Given the description of an element on the screen output the (x, y) to click on. 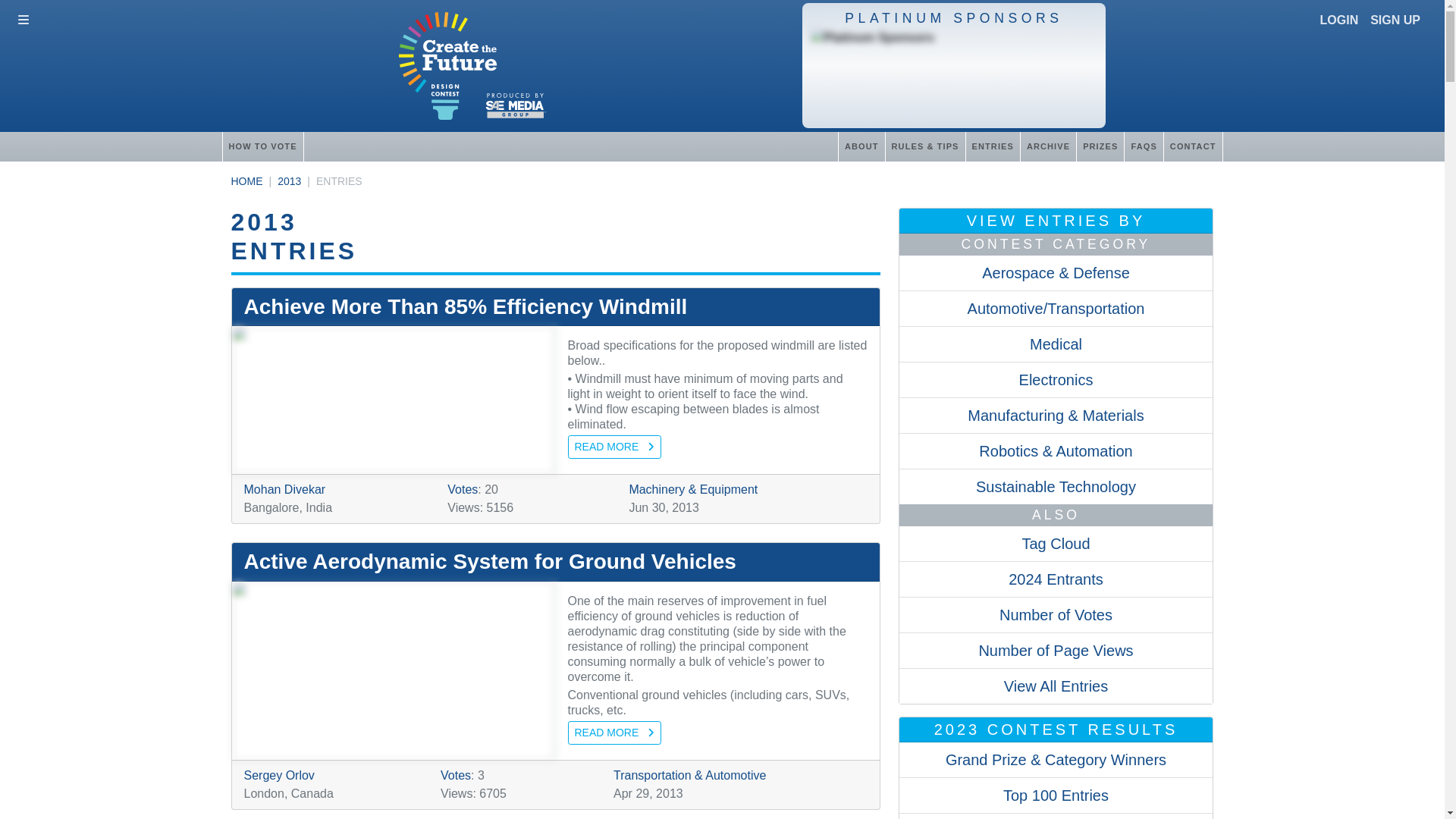
Votes (461, 489)
READ MORE (614, 732)
Votes (455, 775)
ARCHIVE (1047, 146)
Sergey Orlov (279, 775)
HOME (246, 181)
LOGIN (1339, 20)
ABOUT (861, 146)
HOW TO VOTE (261, 146)
READ MORE (614, 446)
ENTRIES (992, 146)
Mohan Divekar (285, 489)
CONTACT (1193, 146)
Active Aerodynamic System for Ground Vehicles (555, 561)
SIGN UP (1395, 20)
